Given the description of an element on the screen output the (x, y) to click on. 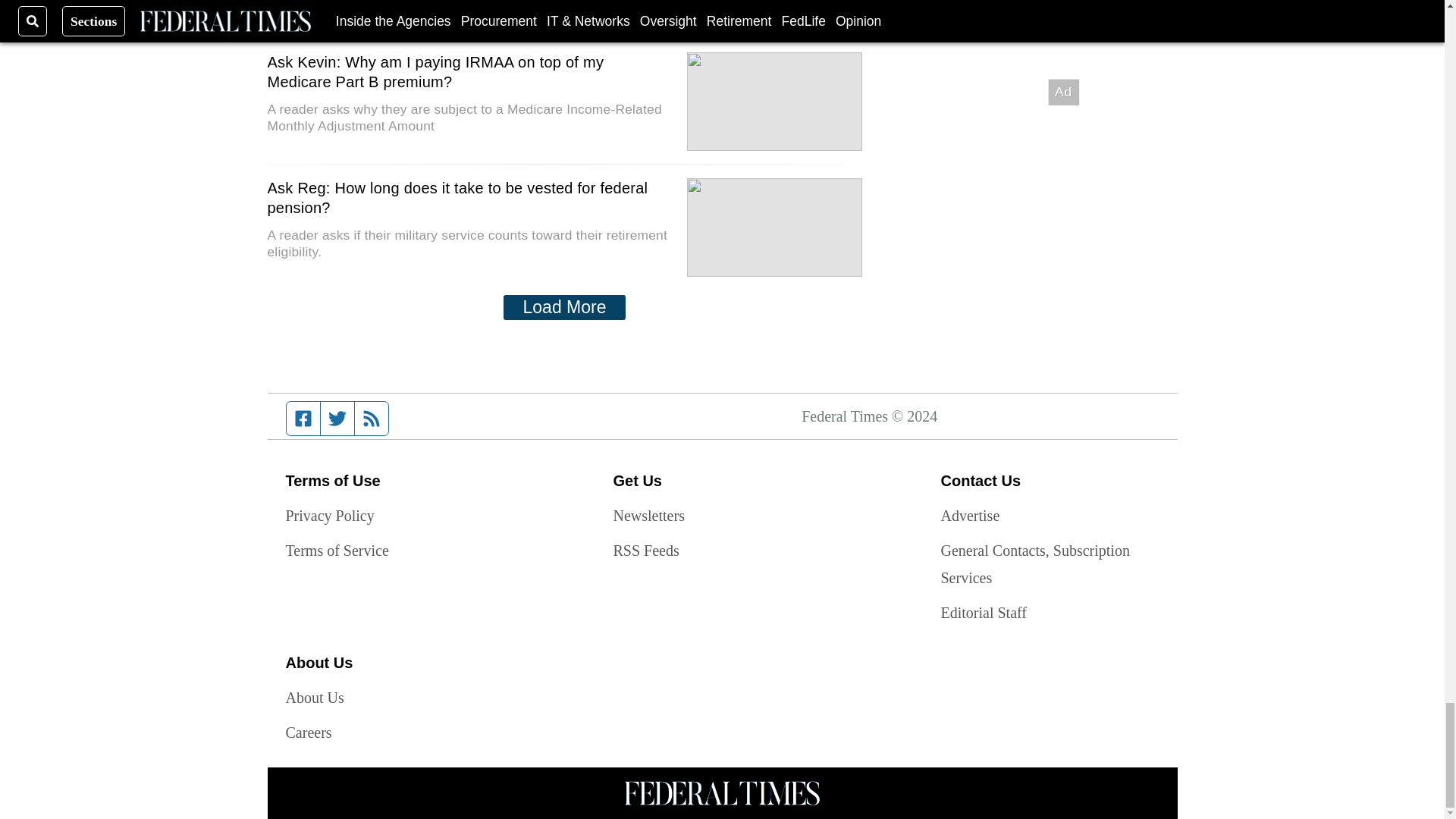
Twitter feed (336, 418)
RSS feed (371, 418)
Facebook page (303, 418)
